Given the description of an element on the screen output the (x, y) to click on. 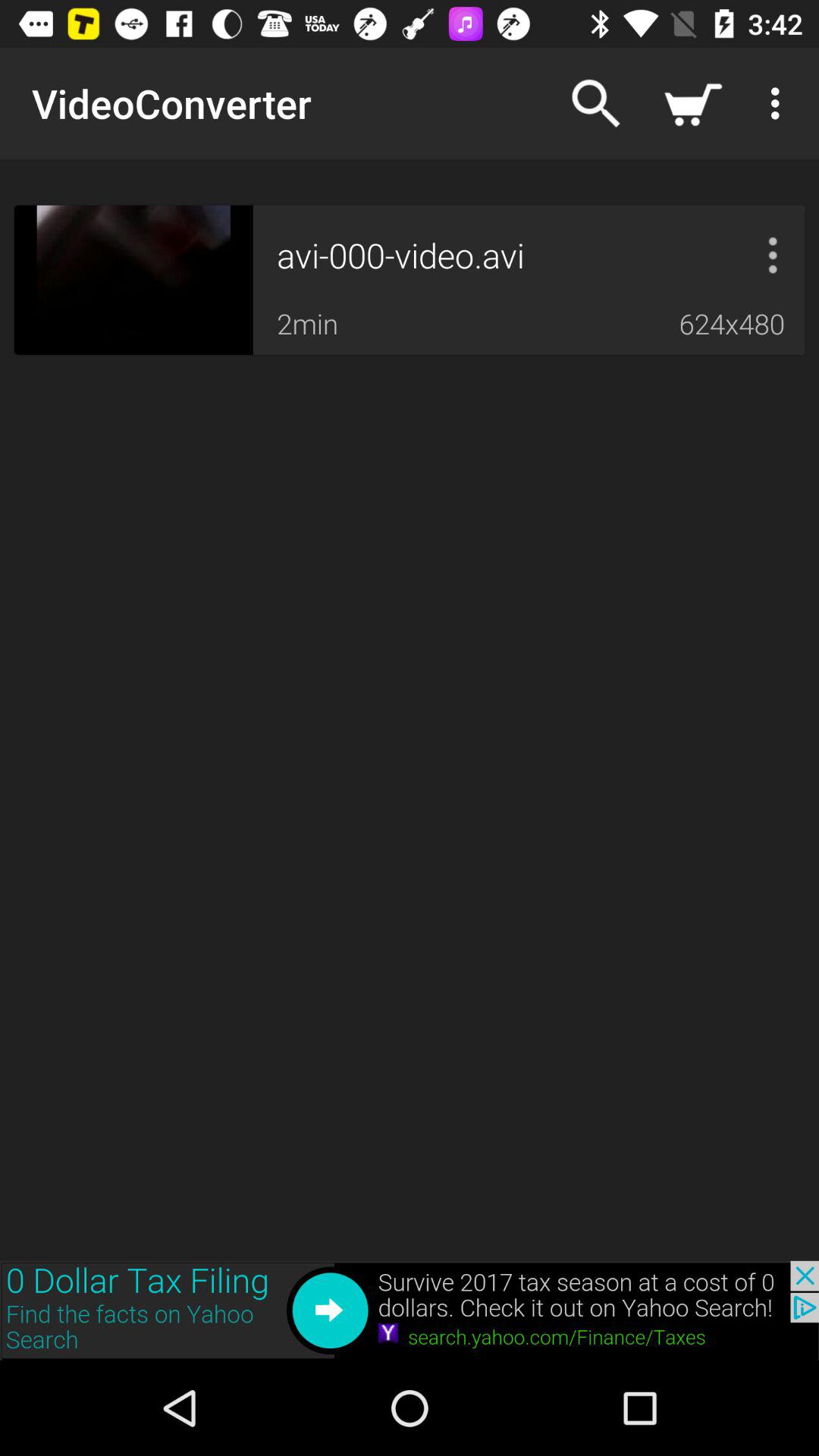
view more options (772, 254)
